Given the description of an element on the screen output the (x, y) to click on. 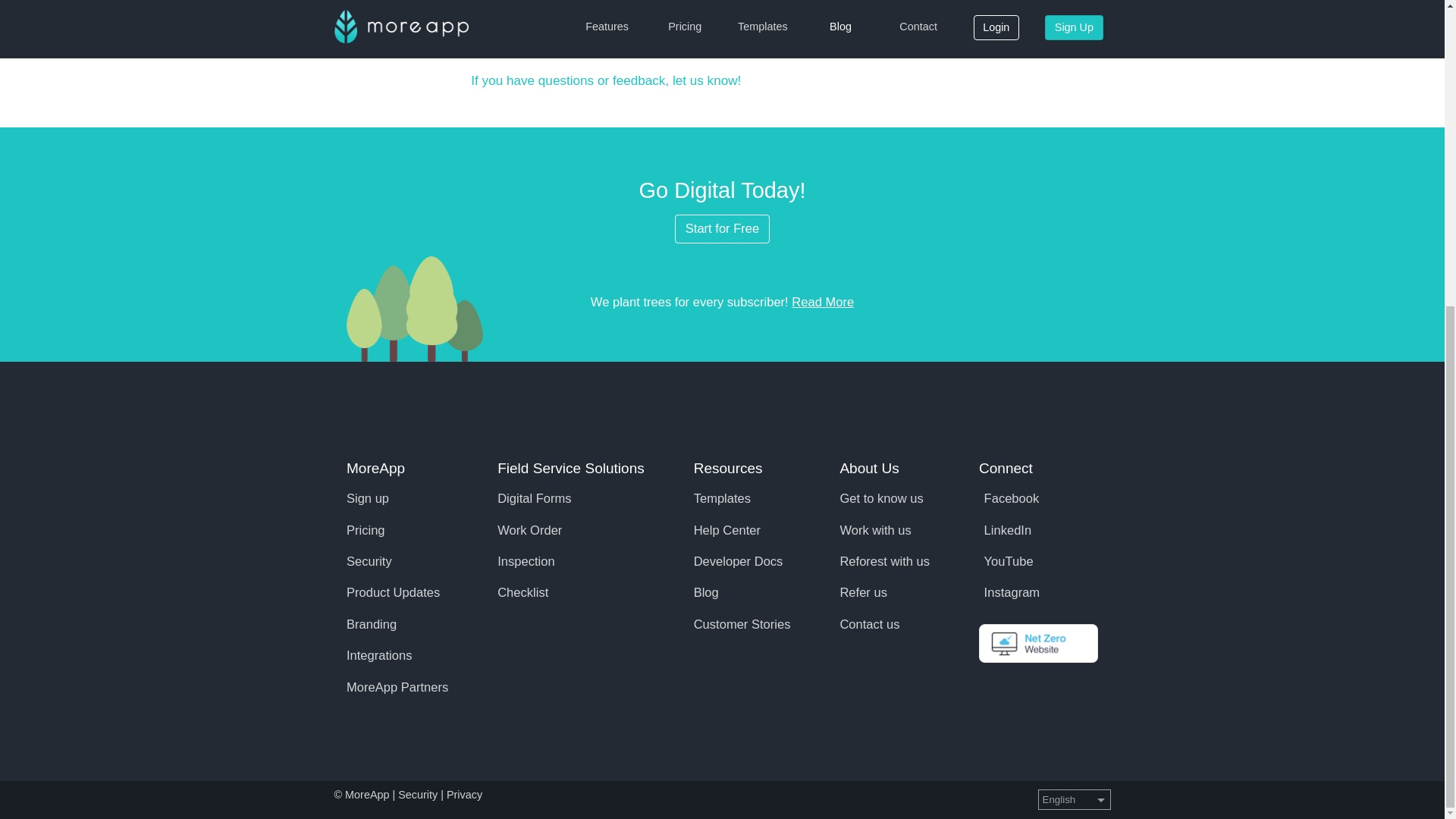
LinkedIn (1004, 530)
Sign up (367, 498)
If you have questions or feedback, let us know! (605, 79)
Contact us (869, 624)
Instagram (1008, 592)
Read More (822, 301)
Work with us (875, 530)
Templates (722, 498)
YouTube (1005, 561)
Help Center (727, 530)
